Given the description of an element on the screen output the (x, y) to click on. 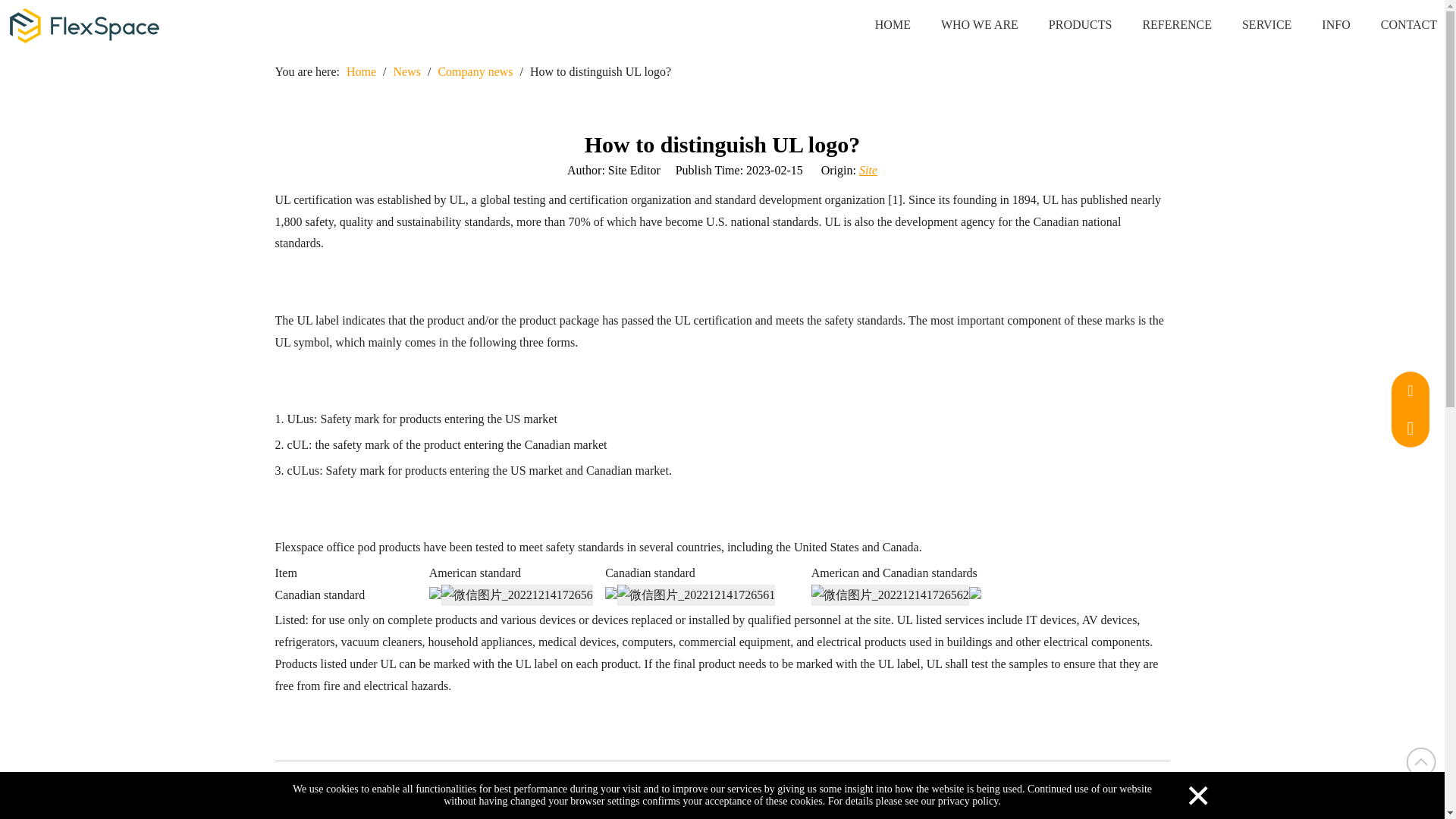
PRODUCTS (1064, 24)
Meeting booths (659, 784)
WHO WE ARE (964, 24)
UL (291, 784)
INFO (1320, 24)
REFERENCE (1161, 24)
Office phone booths (459, 784)
CONTACT (1394, 24)
SERVICE (1251, 24)
HOME (877, 24)
